Given the description of an element on the screen output the (x, y) to click on. 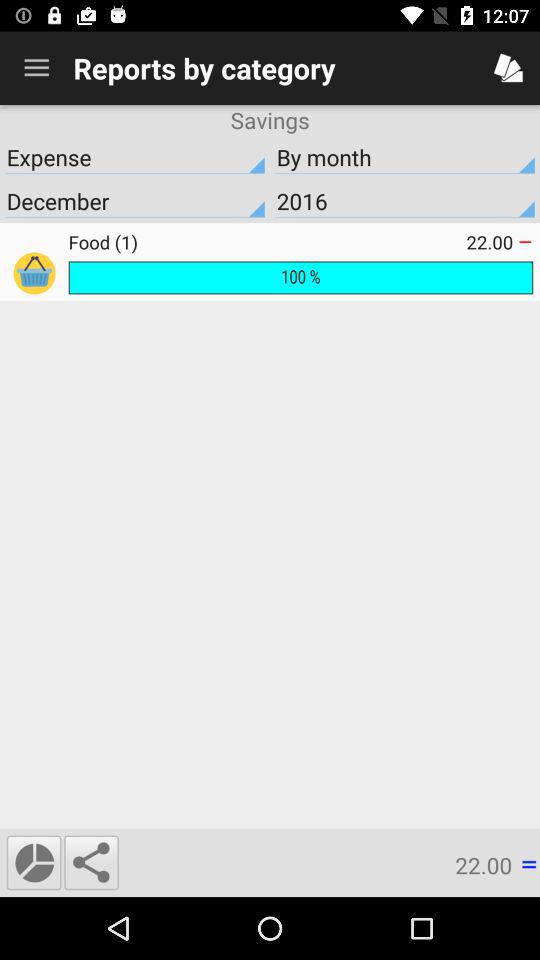
turn off the item next to the expense (405, 157)
